Given the description of an element on the screen output the (x, y) to click on. 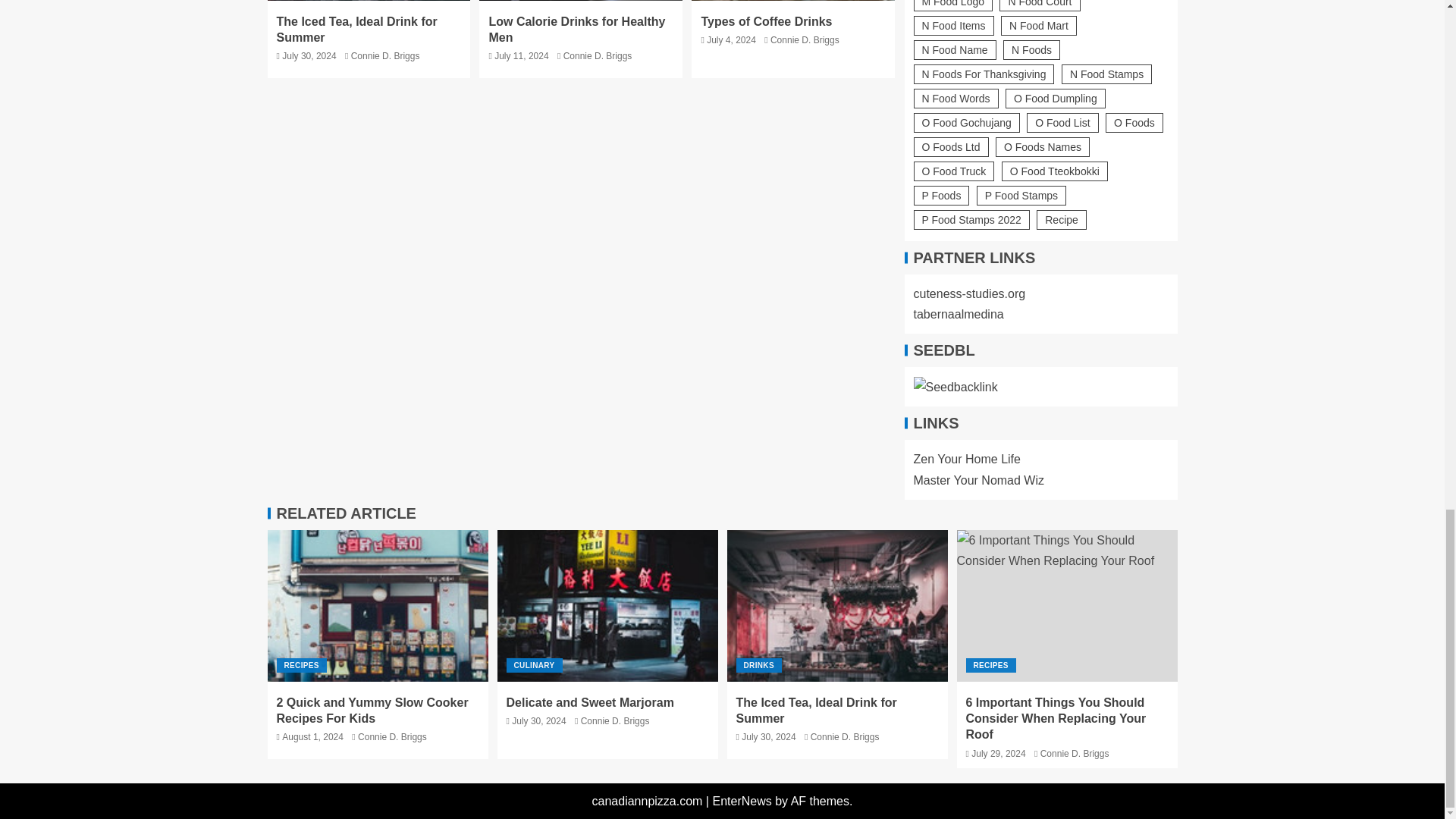
The Iced Tea, Ideal Drink for Summer (356, 29)
2 Quick and Yummy Slow Cooker Recipes For Kids (376, 605)
Delicate and Sweet Marjoram (607, 605)
Connie D. Briggs (385, 55)
Seedbacklink (954, 386)
